Given the description of an element on the screen output the (x, y) to click on. 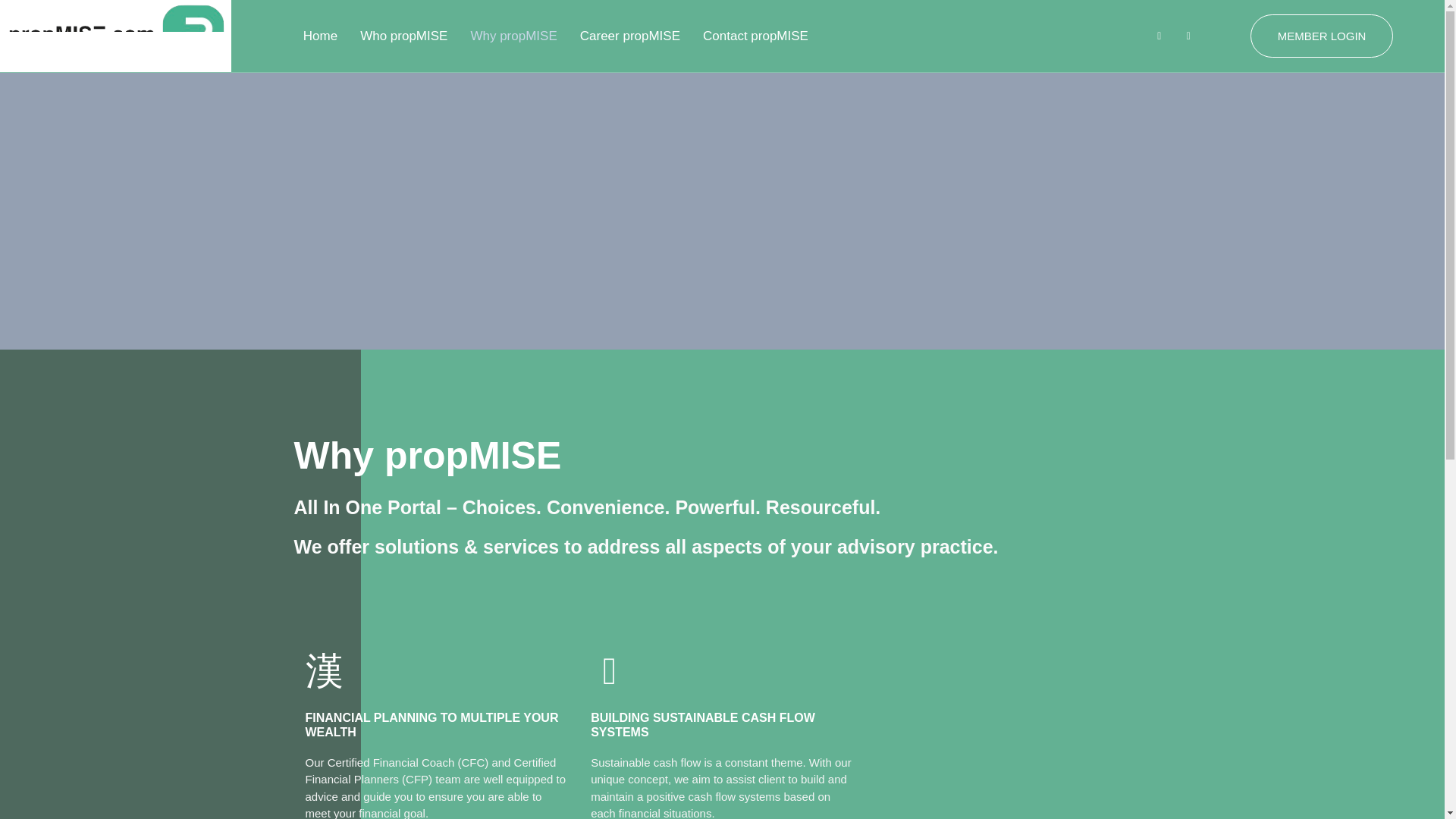
Who propMISE (403, 36)
Home (320, 36)
MEMBER LOGIN (1321, 35)
Why propMISE (512, 36)
Contact propMISE (755, 36)
Career propMISE (630, 36)
